Given the description of an element on the screen output the (x, y) to click on. 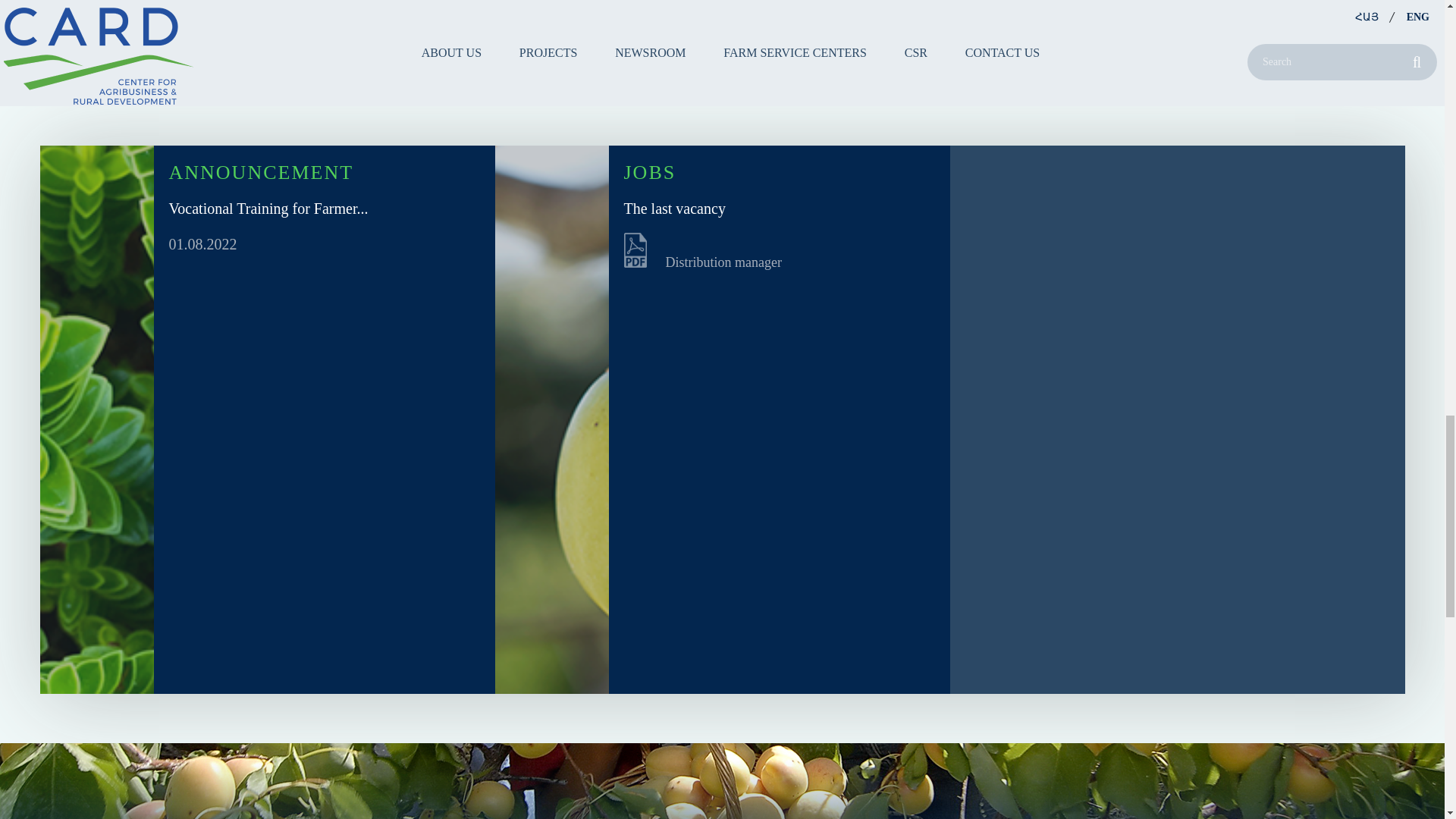
JOBS (649, 172)
ANNOUNCEMENT (260, 172)
Distribution manager (786, 252)
